Given the description of an element on the screen output the (x, y) to click on. 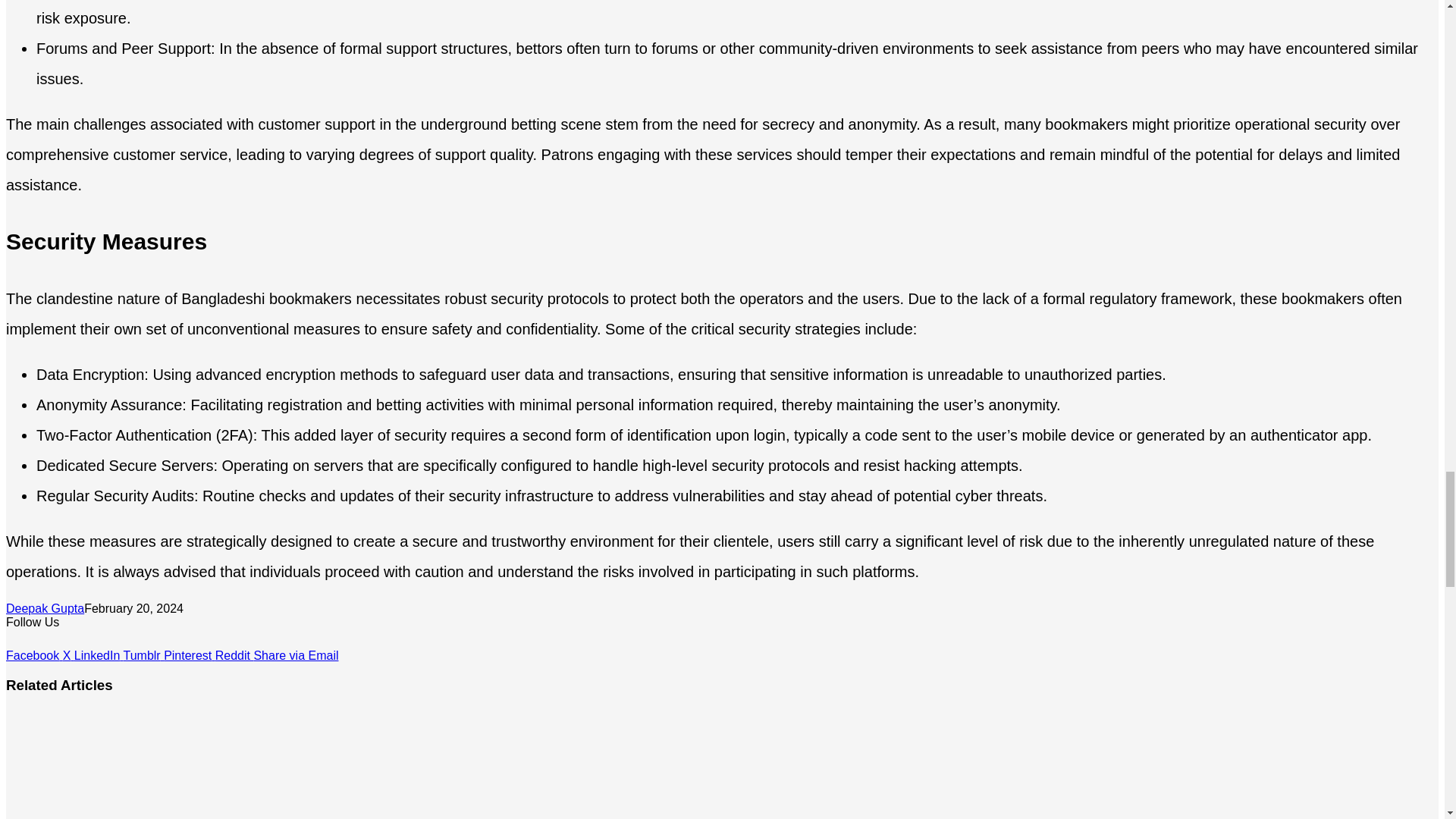
LinkedIn (98, 655)
Tumblr (142, 655)
Pinterest (189, 655)
Pinterest (189, 655)
LinkedIn (98, 655)
Reddit (234, 655)
Facebook (33, 655)
Reddit (234, 655)
Tumblr (142, 655)
Google News (51, 641)
Share via Email (295, 655)
Deepak Gupta (44, 608)
Deepak Gupta (44, 608)
Share via Email (295, 655)
X (68, 655)
